Given the description of an element on the screen output the (x, y) to click on. 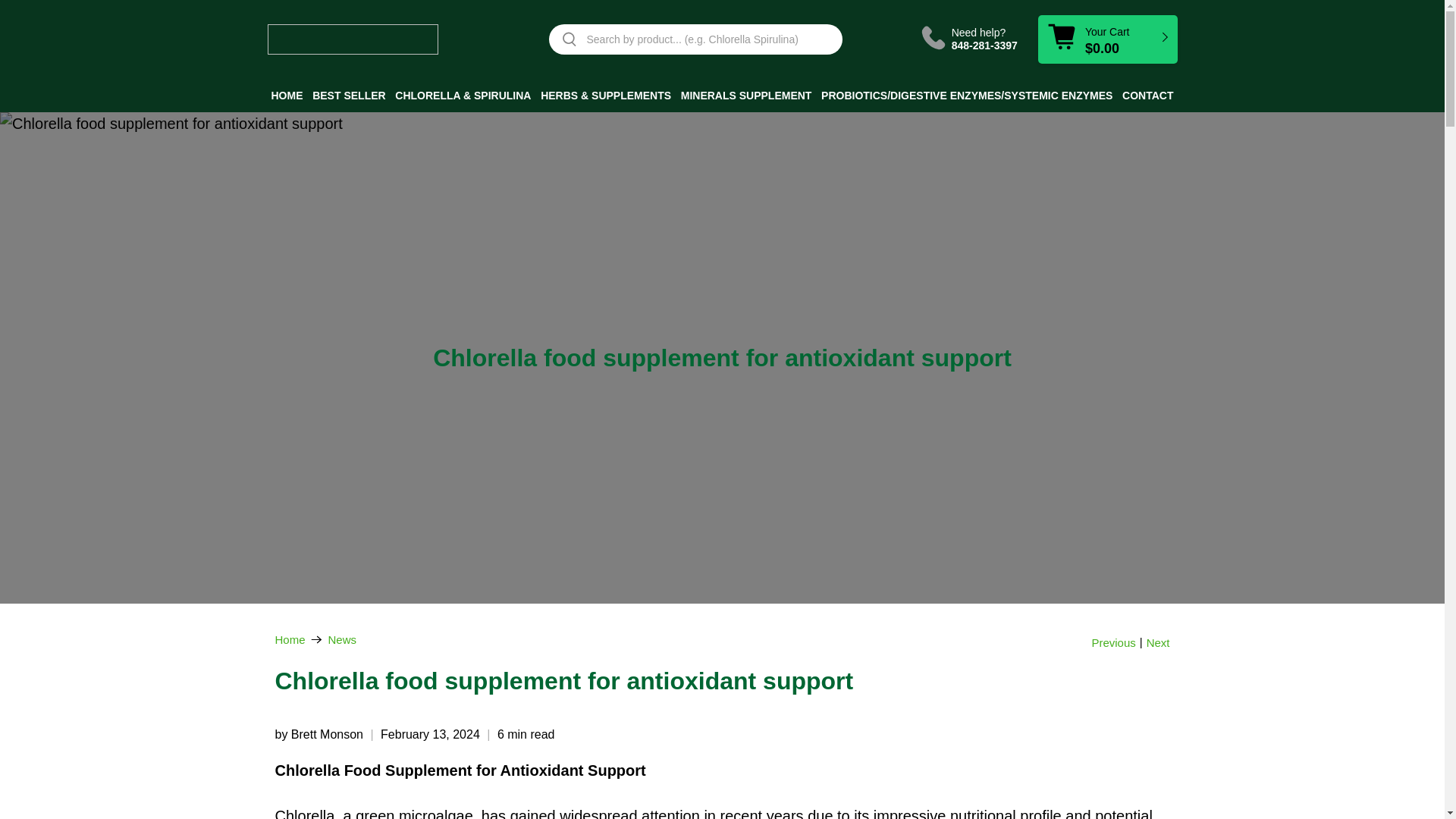
HOME (285, 95)
Previous (1112, 642)
MINERALS SUPPLEMENT (746, 95)
Previous (1112, 642)
by Brett Monson (318, 734)
Mysuperfoodrx (352, 39)
Next (1158, 642)
News (342, 639)
News (342, 639)
BEST SELLER (348, 95)
Next (1158, 642)
CONTACT (1147, 95)
Mysuperfoodrx (289, 639)
Home (289, 639)
